Given the description of an element on the screen output the (x, y) to click on. 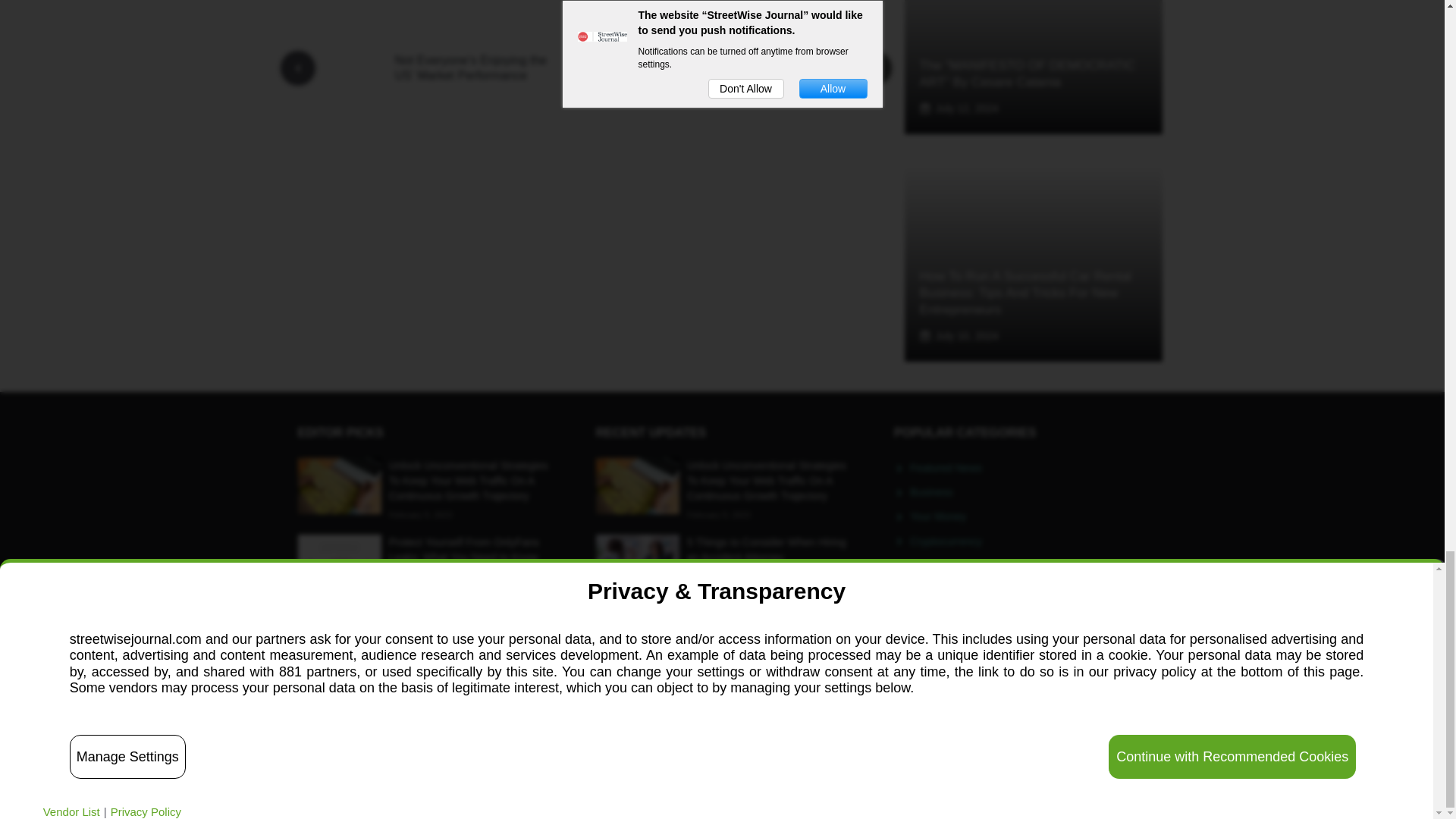
Protect Yourself From OnlyFans Leaks: What You Need to Know (463, 549)
